Given the description of an element on the screen output the (x, y) to click on. 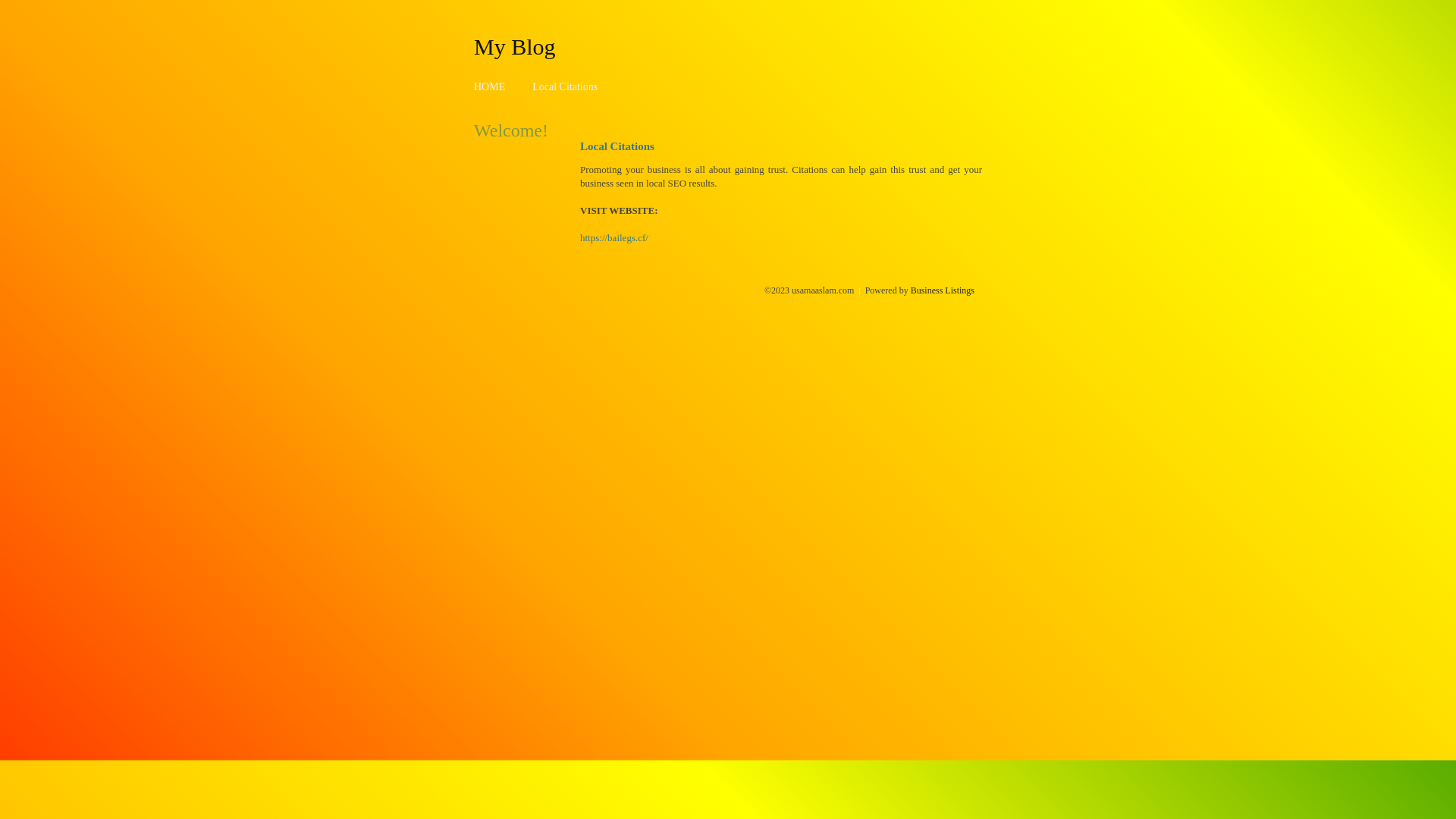
My Blog Element type: text (514, 46)
HOME Element type: text (489, 86)
Local Citations Element type: text (564, 86)
https://bailegs.cf/ Element type: text (614, 237)
Business Listings Element type: text (942, 290)
